Given the description of an element on the screen output the (x, y) to click on. 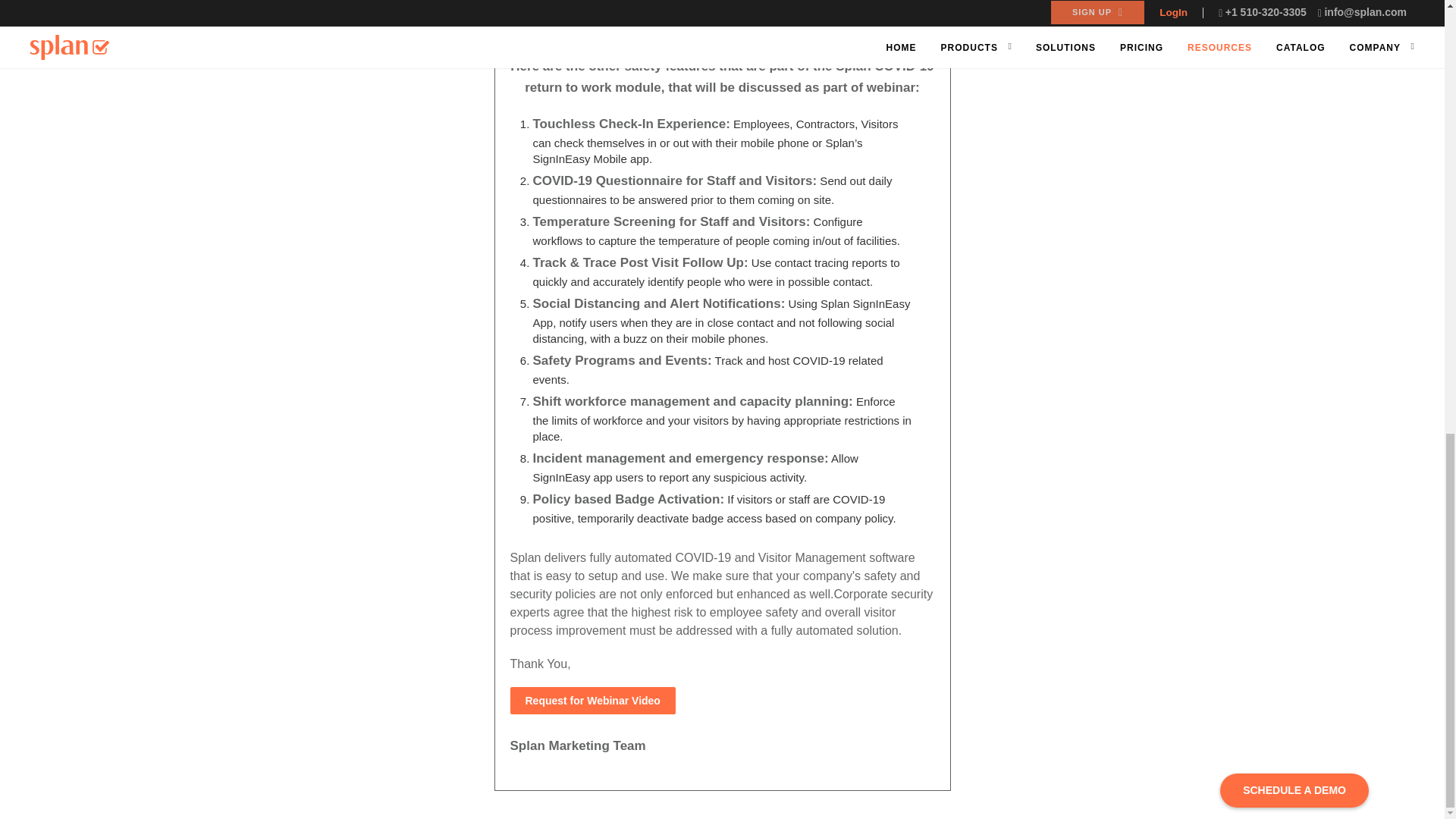
Request for Webinar Video (592, 700)
